Given the description of an element on the screen output the (x, y) to click on. 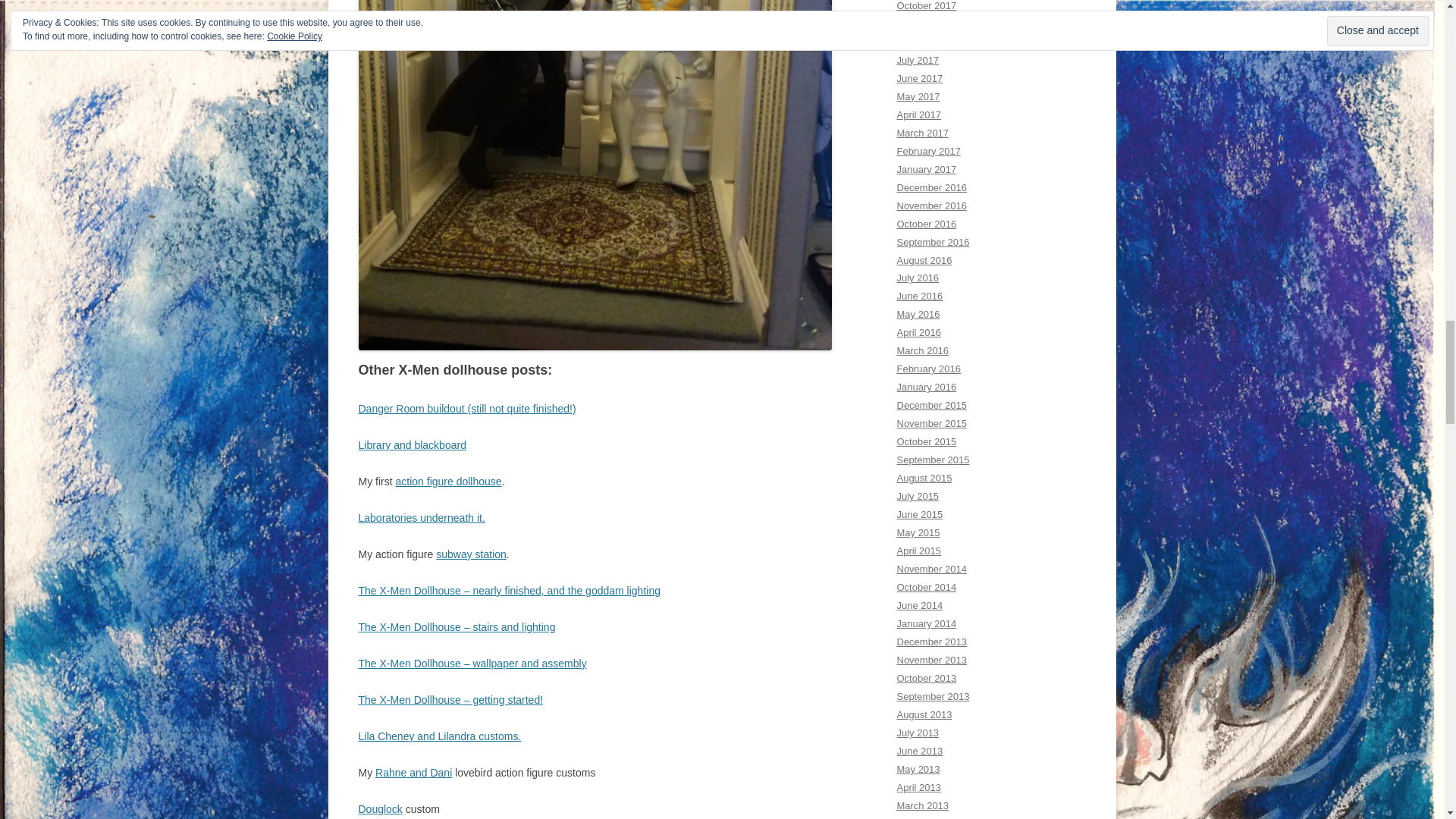
Lila Cheney and Lilandra customs. (439, 736)
action figure dollhouse (449, 481)
Library and blackboard (411, 444)
subway station (470, 553)
Douglock (379, 808)
Laboratories underneath it. (421, 517)
Rahne and Dani (413, 772)
